Given the description of an element on the screen output the (x, y) to click on. 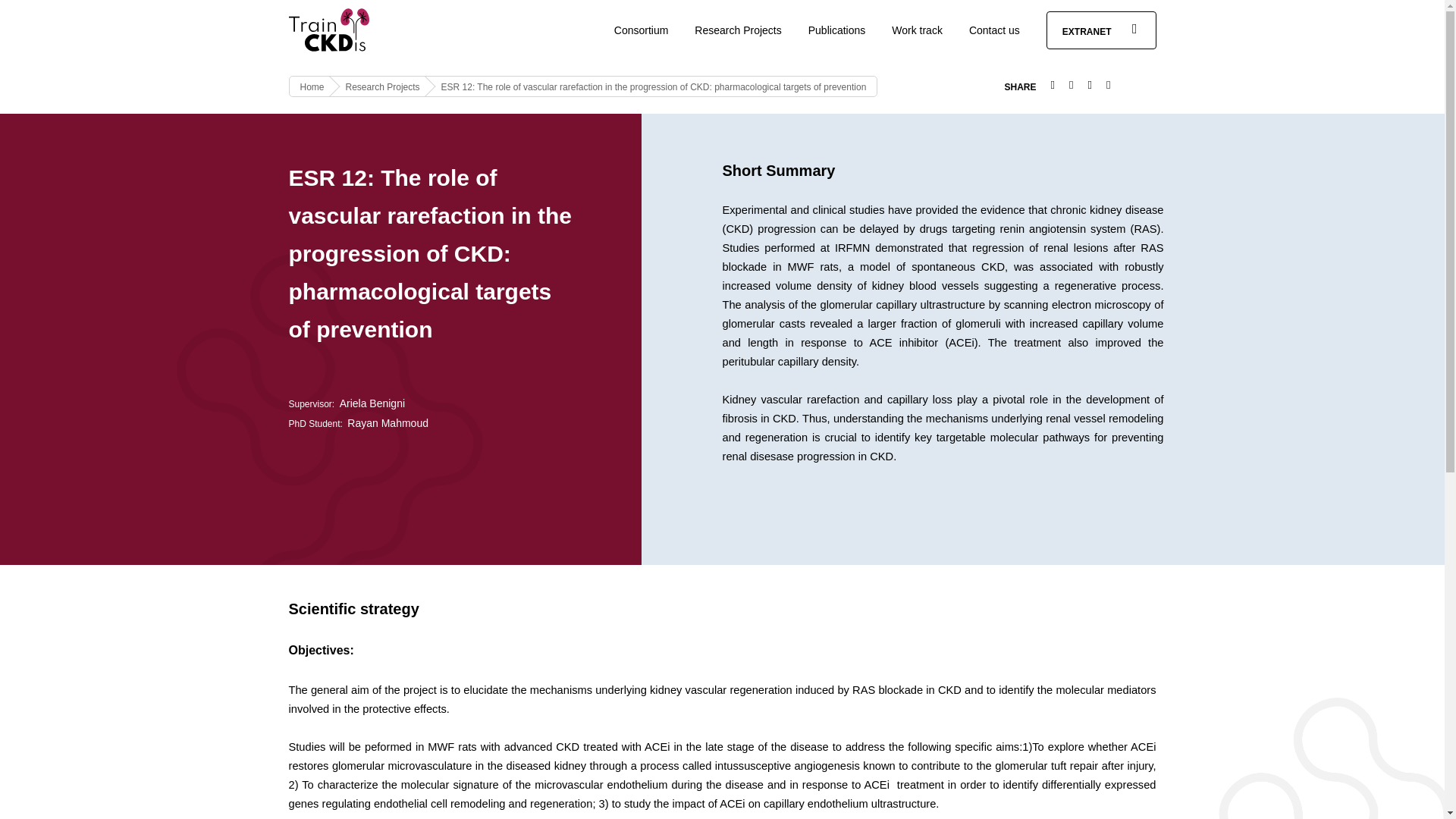
Rayan Mahmoud (387, 422)
Publications (837, 30)
Research Projects (383, 86)
Research Projects (737, 30)
Home (311, 86)
EXTRANET (1101, 30)
